Given the description of an element on the screen output the (x, y) to click on. 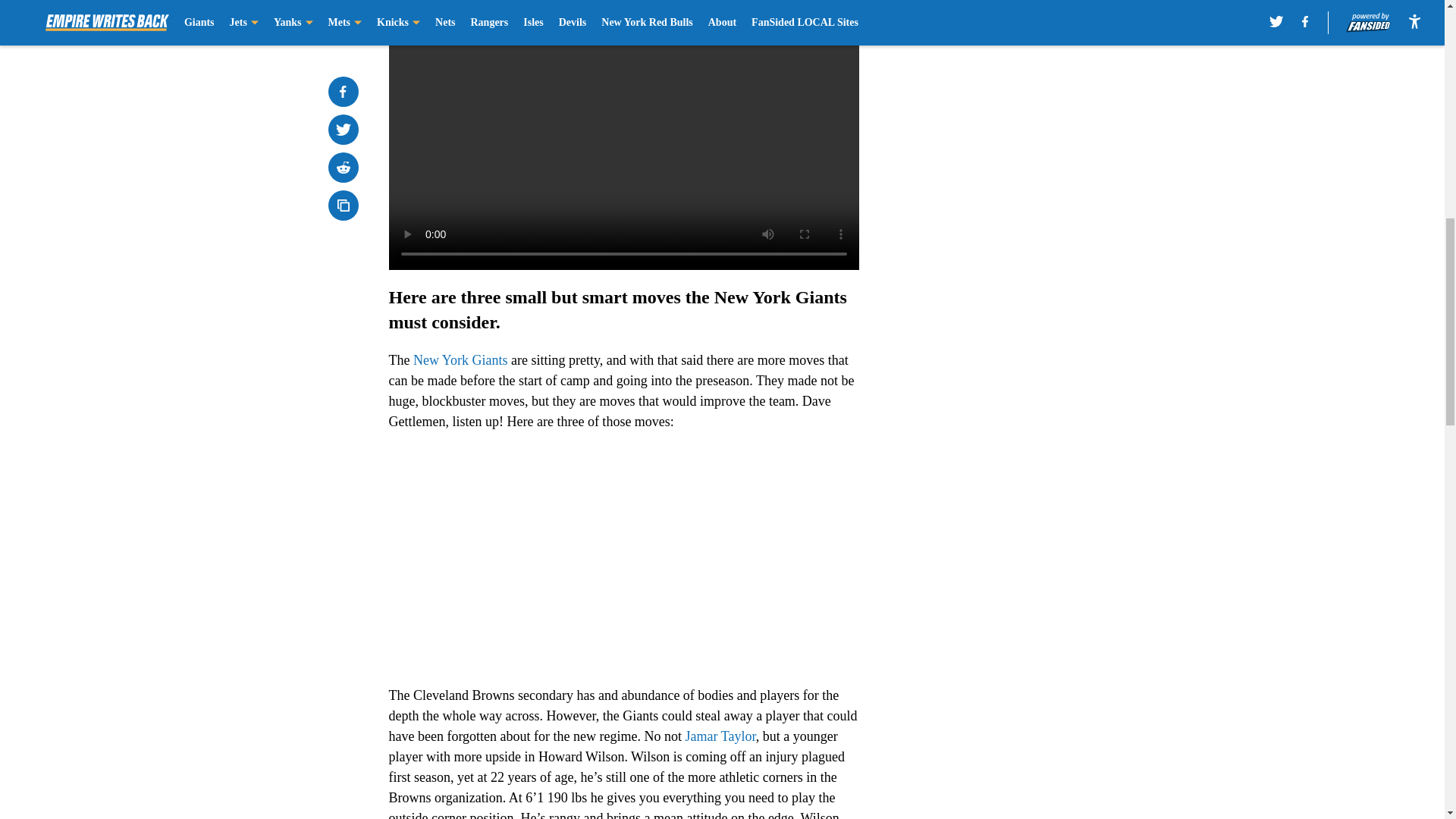
Jamar Taylor (720, 735)
3rd party ad content (1047, 320)
3rd party ad content (1047, 100)
New York Giants (460, 359)
